Given the description of an element on the screen output the (x, y) to click on. 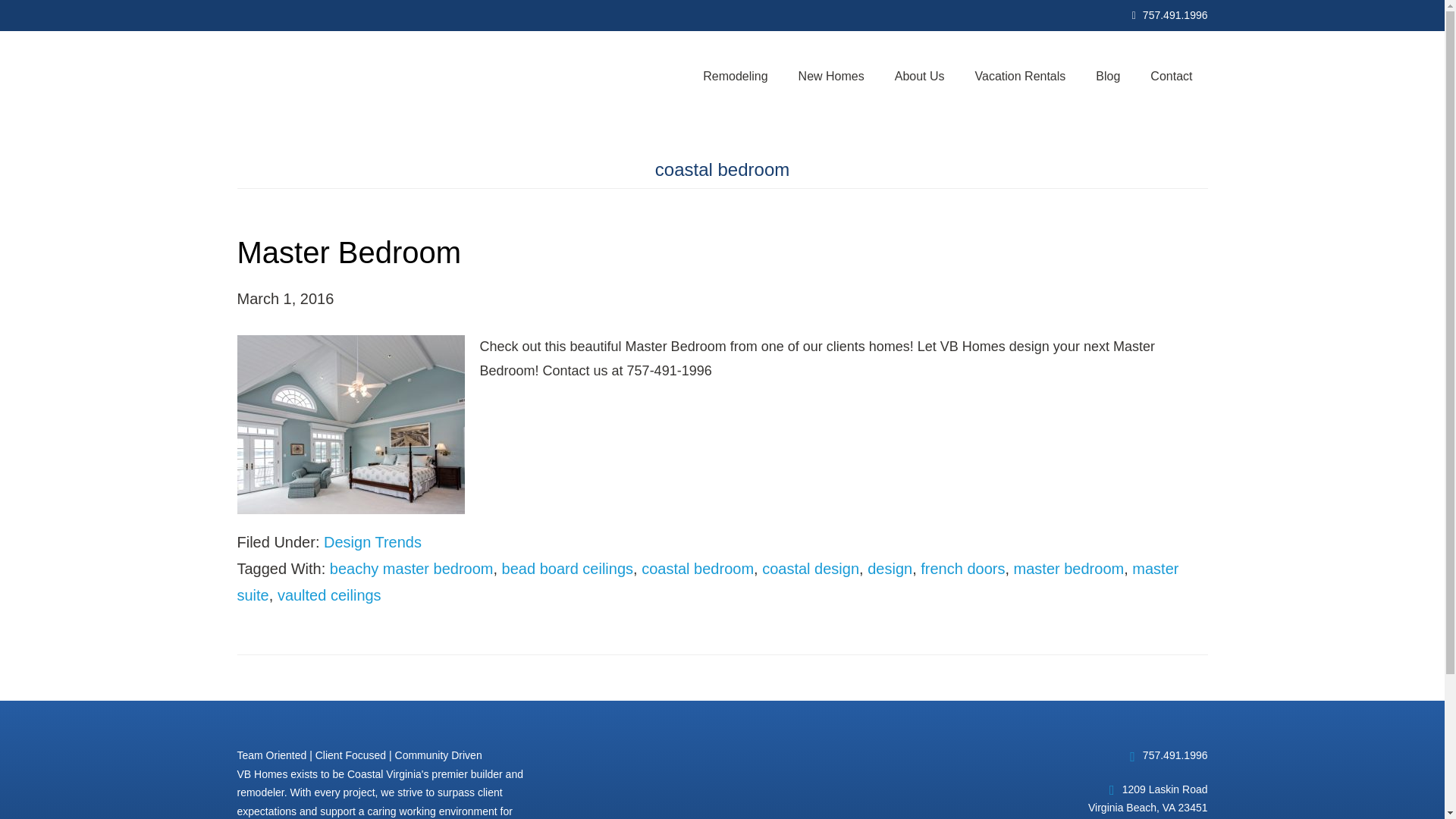
beachy master bedroom (411, 568)
master suite (706, 581)
New Homes (831, 75)
vaulted ceilings (329, 595)
Master Bedroom (348, 252)
bead board ceilings (567, 568)
coastal bedroom (698, 568)
coastal design (810, 568)
Design Trends (372, 541)
